Given the description of an element on the screen output the (x, y) to click on. 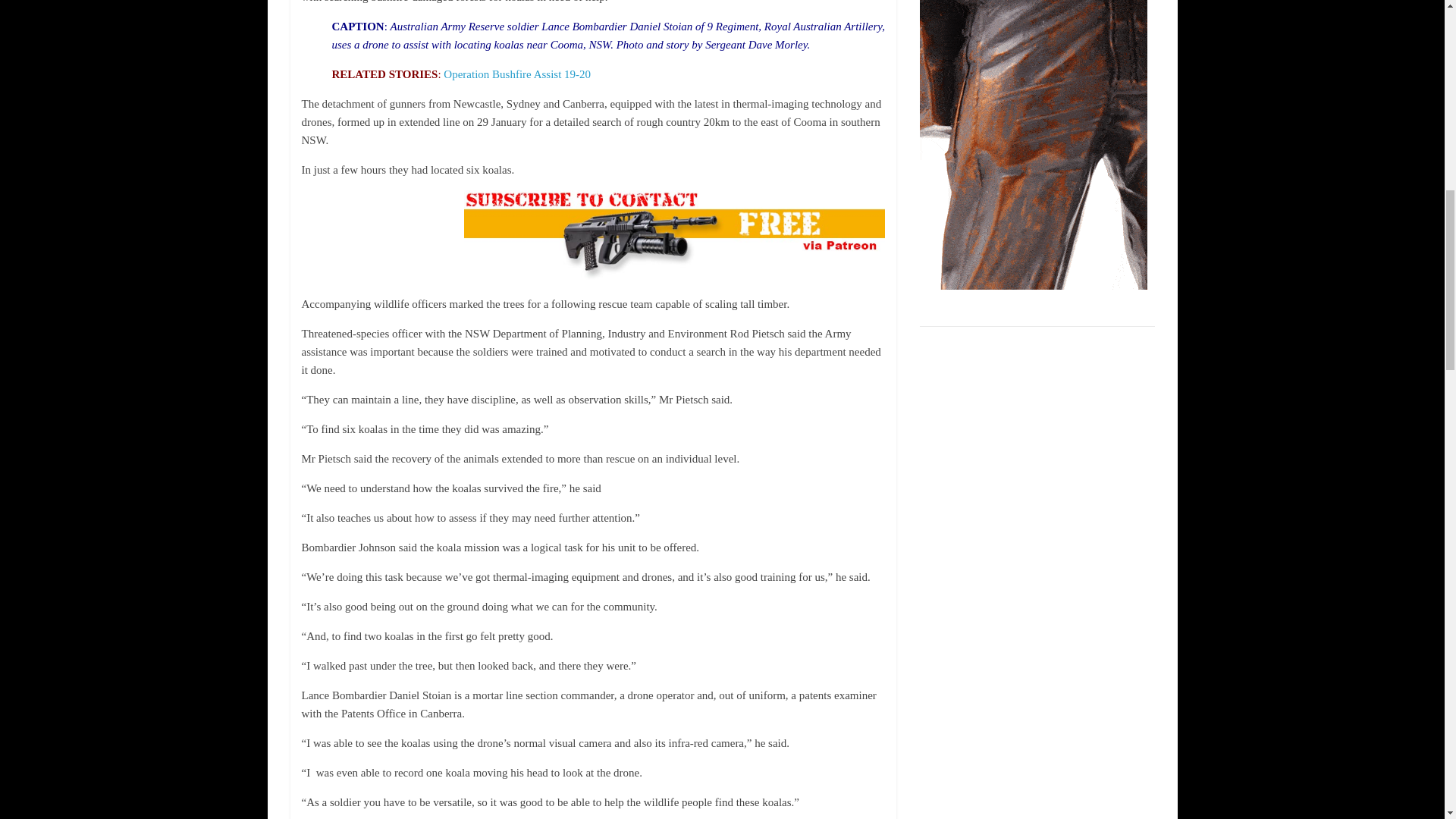
Operation Bushfire Assist 19-20 (517, 73)
